Given the description of an element on the screen output the (x, y) to click on. 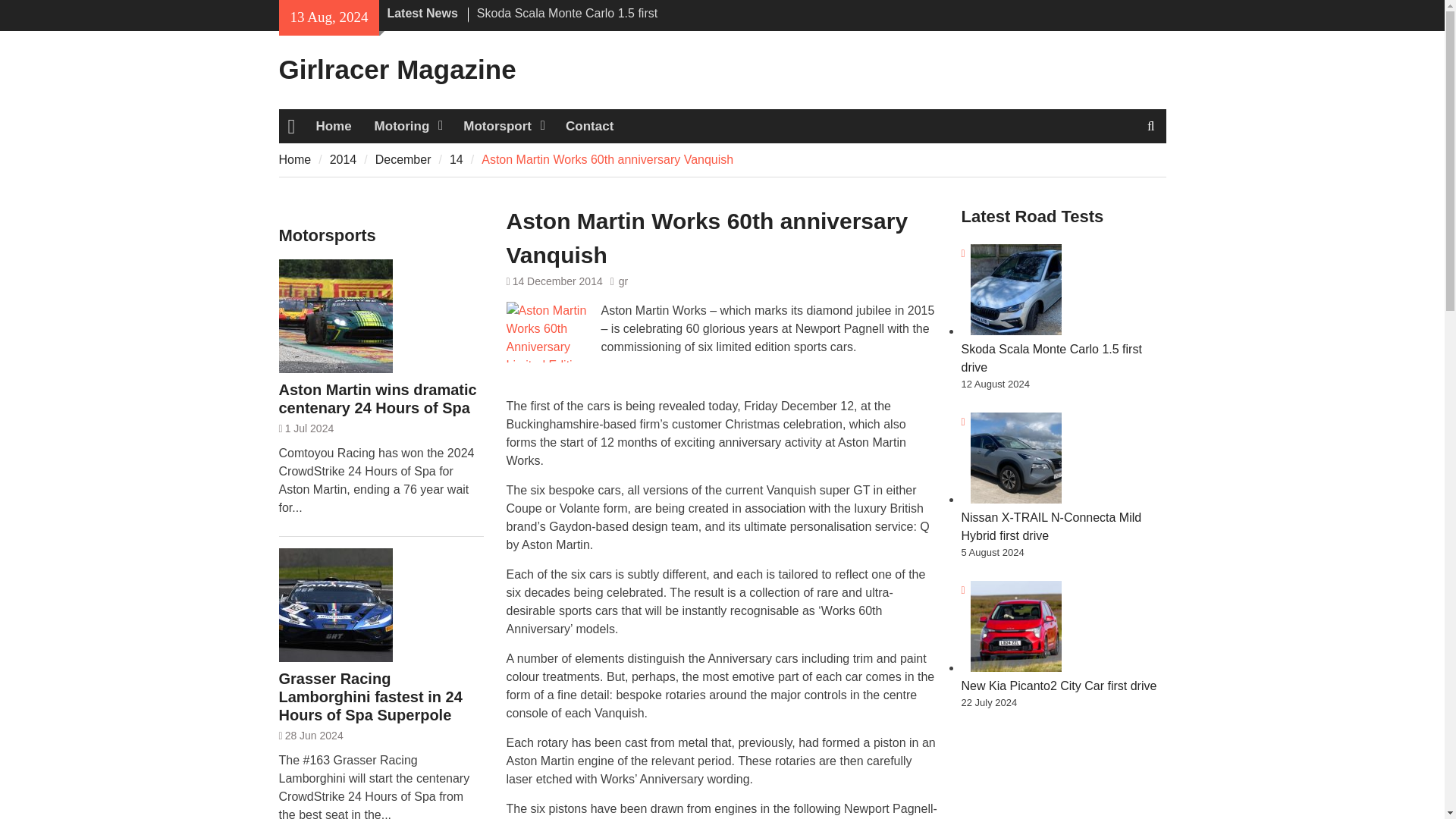
Contact (589, 126)
2014 (343, 159)
Girlracer Magazine (397, 69)
14 December 2014 (557, 281)
14 (456, 159)
Skoda Scala Monte Carlo 1.5 first drive (1050, 358)
Motoring (407, 126)
December (402, 159)
Skoda Scala Monte Carlo 1.5 first drive (567, 21)
Nissan X-TRAIL N-Connecta Mild Hybrid first drive (1050, 526)
